Given the description of an element on the screen output the (x, y) to click on. 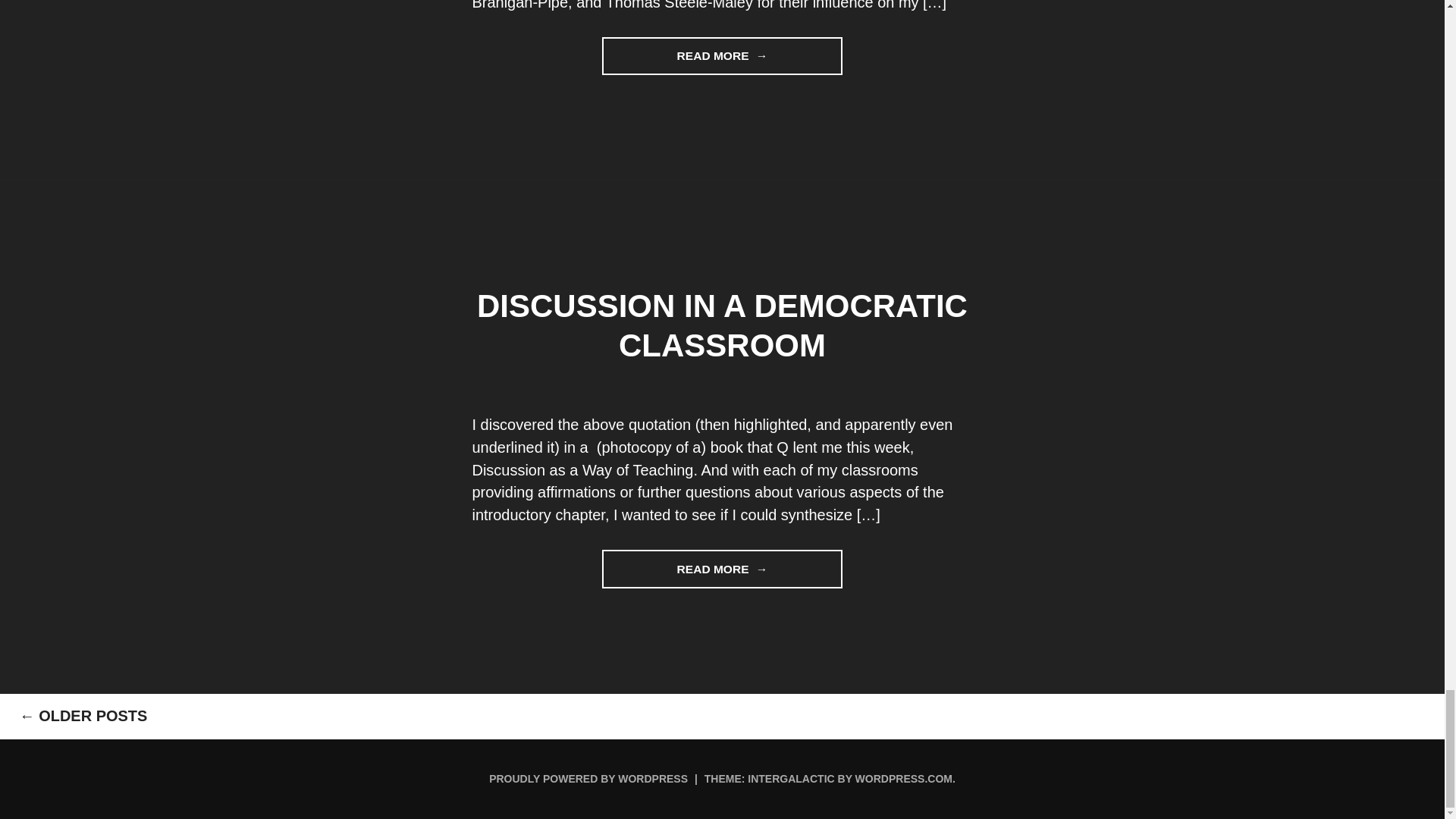
DISCUSSION IN A DEMOCRATIC CLASSROOM (722, 325)
PROUDLY POWERED BY WORDPRESS (722, 55)
WORDPRESS.COM (588, 778)
